Given the description of an element on the screen output the (x, y) to click on. 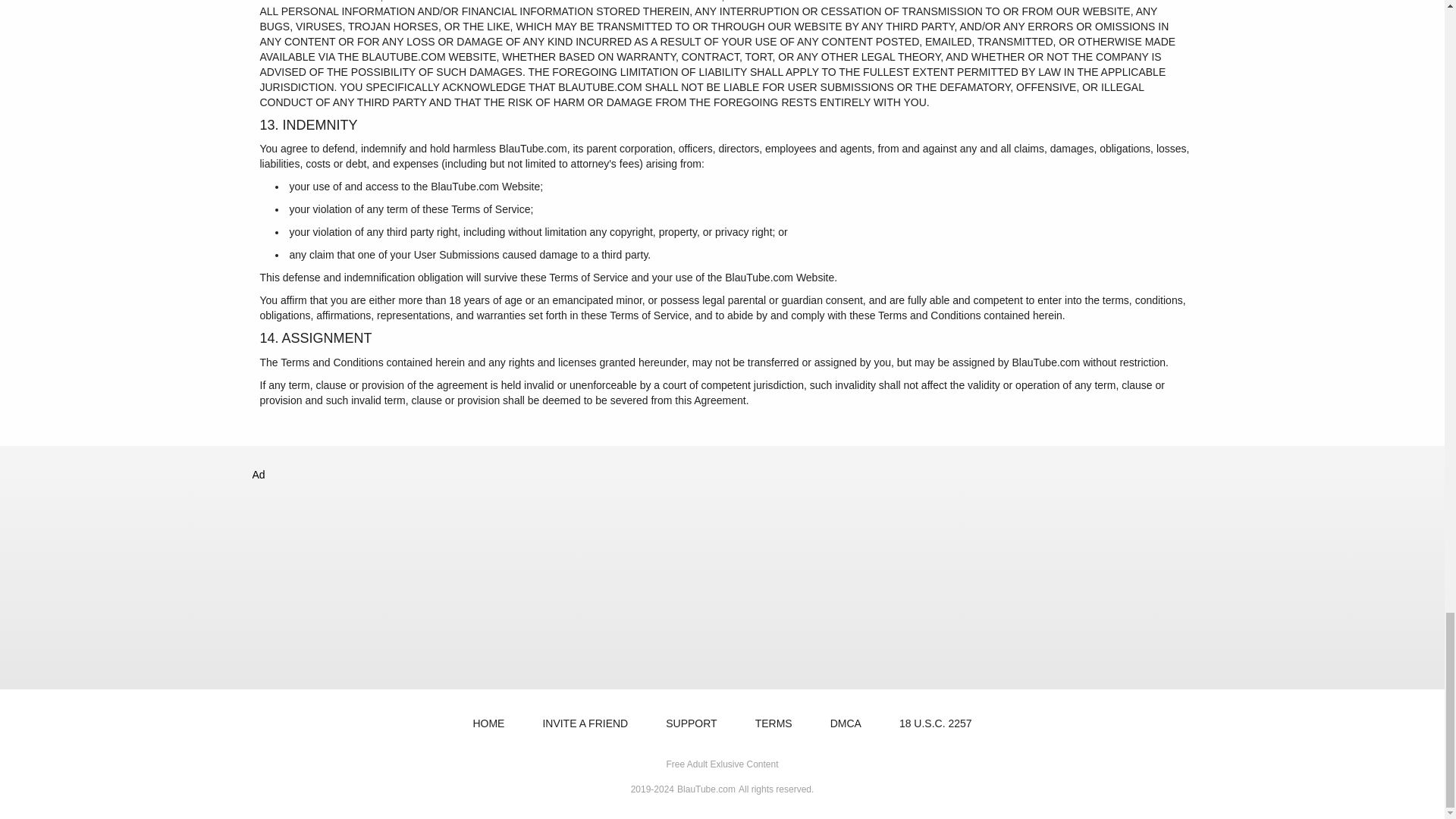
SUPPORT (691, 722)
INVITE A FRIEND (585, 722)
18 U.S.C. 2257 (935, 722)
BlauTube.com (706, 788)
HOME (488, 722)
TERMS (773, 722)
DMCA (845, 722)
